Given the description of an element on the screen output the (x, y) to click on. 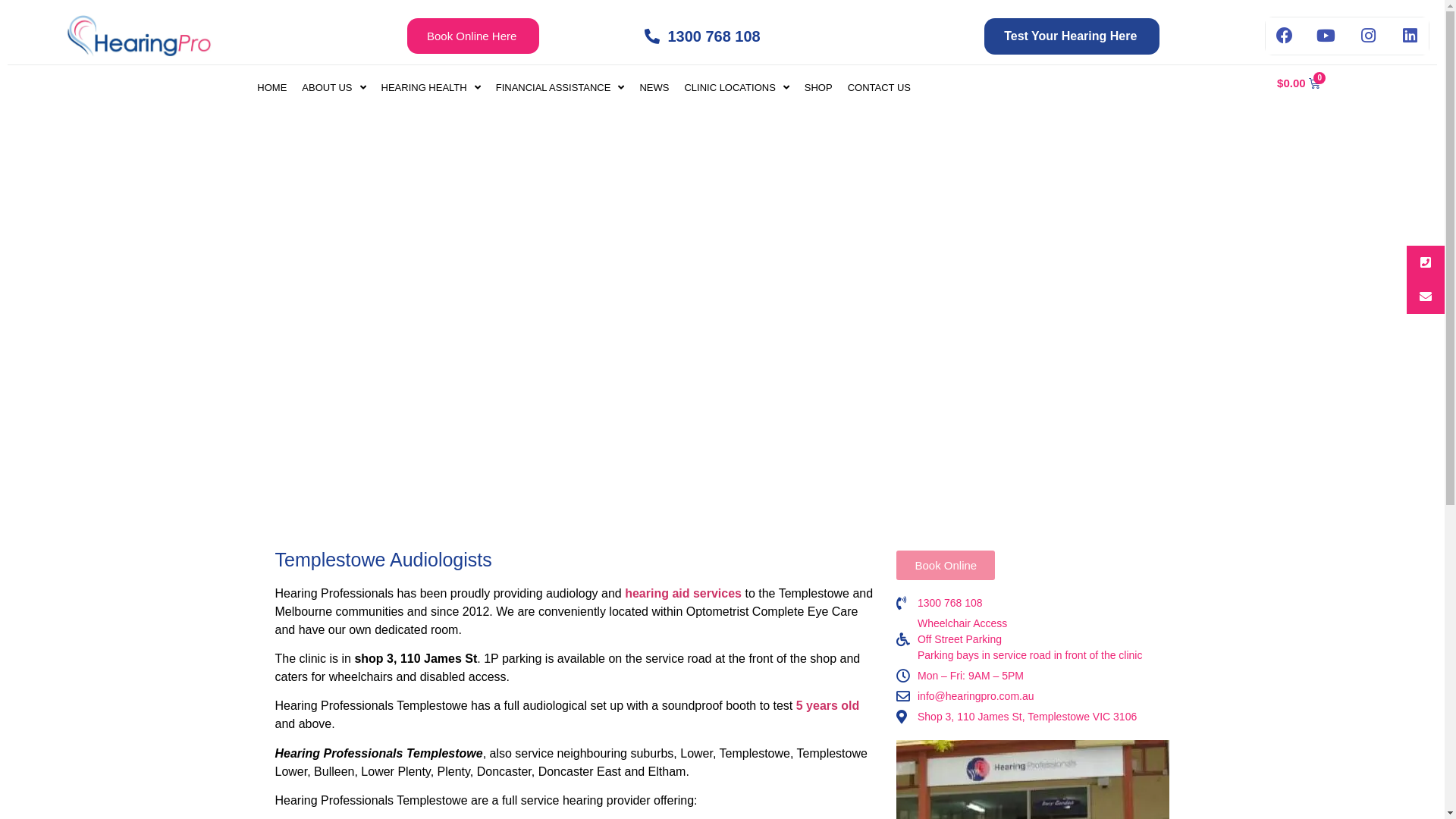
$0.00
0 Element type: text (1298, 82)
ABOUT US Element type: text (333, 87)
Shop 3, 110 James St, Templestowe VIC 3106 Element type: hover (722, 315)
NEWS Element type: text (653, 87)
Test Your Hearing Here Element type: text (1071, 36)
HOME Element type: text (271, 87)
hearing aid services Element type: text (682, 592)
1300 768 108 Element type: text (1032, 602)
Book Online Here Element type: text (473, 35)
5 years old Element type: text (827, 705)
CLINIC LOCATIONS Element type: text (736, 87)
SHOP Element type: text (818, 87)
1300 768 108 Element type: text (761, 35)
info@hearingpro.com.au Element type: text (1032, 696)
HEARING HEALTH Element type: text (430, 87)
Book Online Element type: text (945, 565)
FINANCIAL ASSISTANCE Element type: text (560, 87)
CONTACT US Element type: text (879, 87)
